Given the description of an element on the screen output the (x, y) to click on. 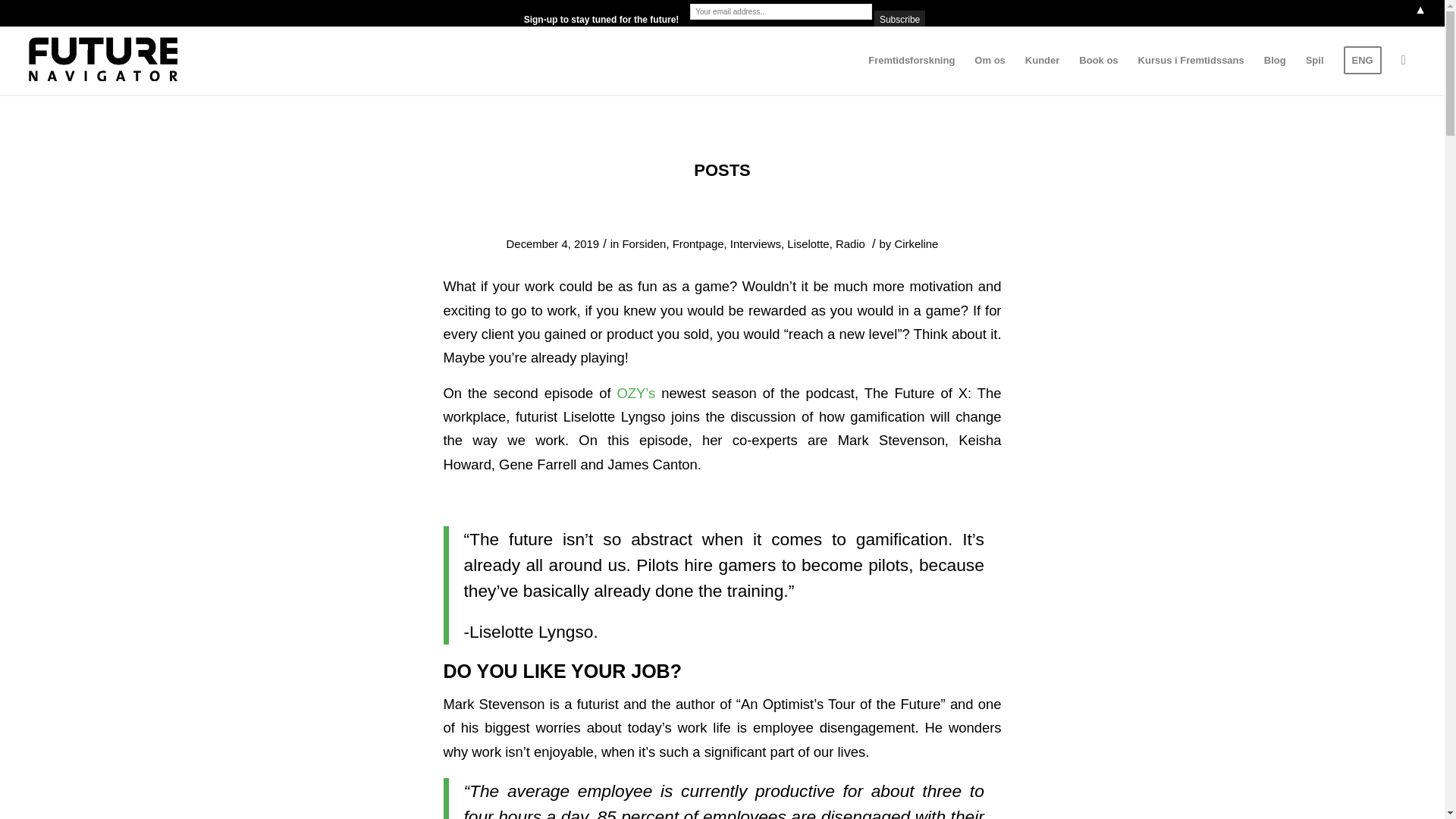
Interviews (755, 244)
Subscribe (899, 19)
Fremtidsforskning (911, 60)
Liselotte (807, 244)
Frontpage (697, 244)
Posts by Cirkeline (915, 244)
Kursus i Fremtidssans (1190, 60)
Radio (849, 244)
Forsiden (643, 244)
